Given the description of an element on the screen output the (x, y) to click on. 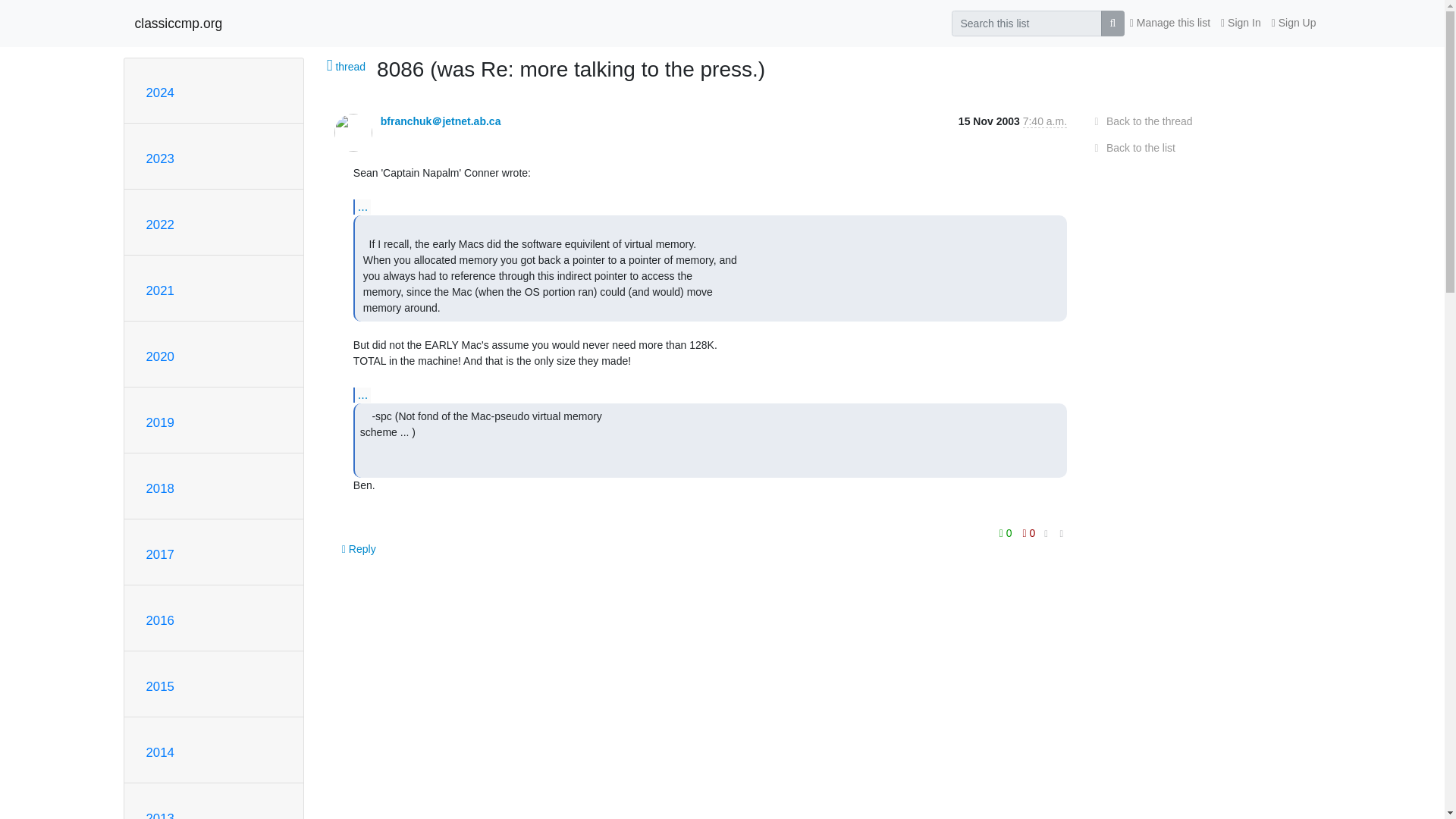
Sender's time: Nov. 15, 2003, 12:40 p.m. (1045, 121)
2023 (159, 158)
You must be logged-in to vote. (1007, 532)
classiccmp.org (178, 22)
Sign in to reply online (359, 548)
Sign Up (1294, 22)
2022 (159, 224)
Sign In (1240, 22)
2024 (159, 92)
You must be logged-in to vote. (1029, 532)
